Given the description of an element on the screen output the (x, y) to click on. 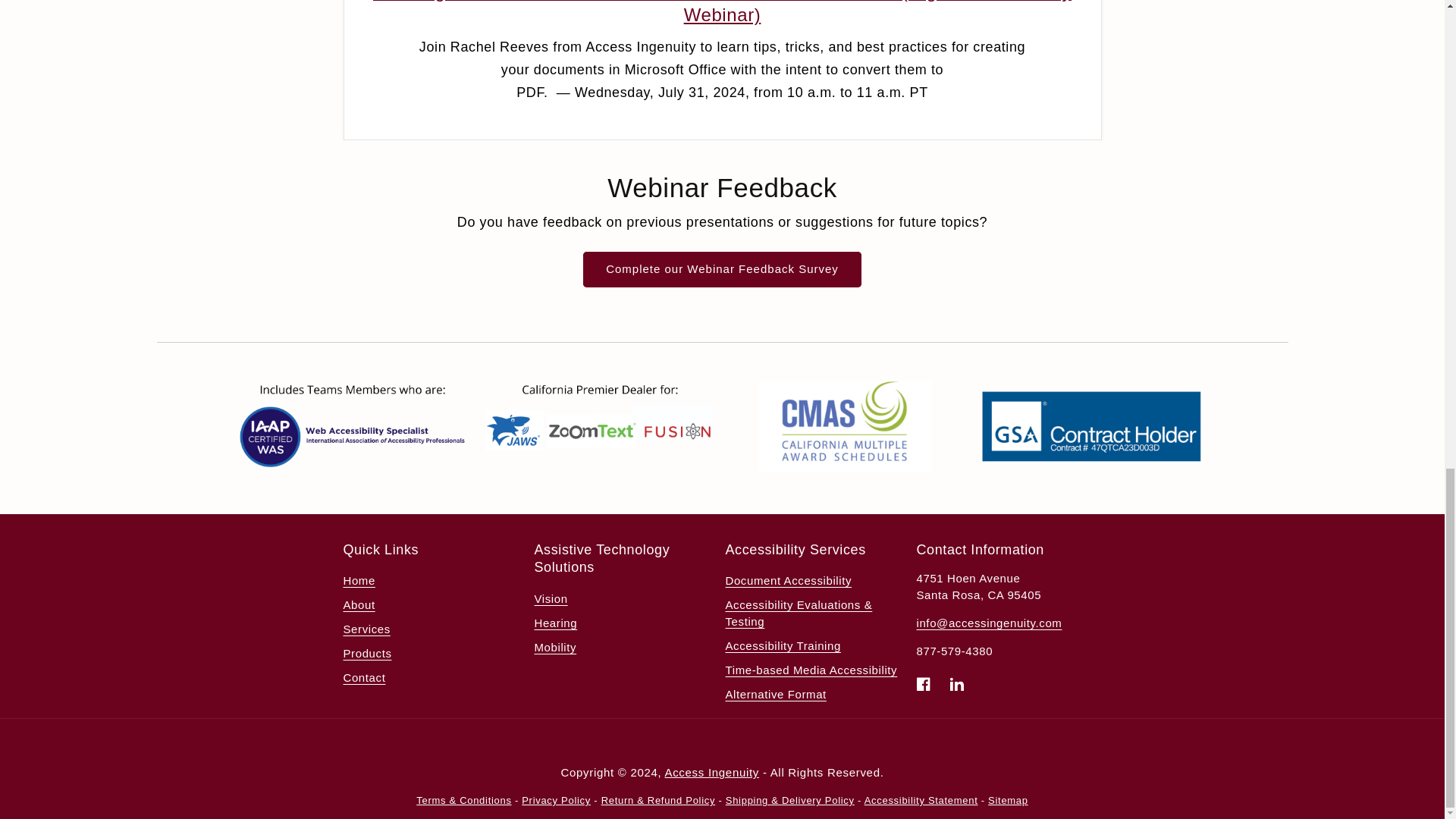
Complete our Webinar Feedback Survey (722, 269)
Home (358, 582)
About (358, 604)
